Given the description of an element on the screen output the (x, y) to click on. 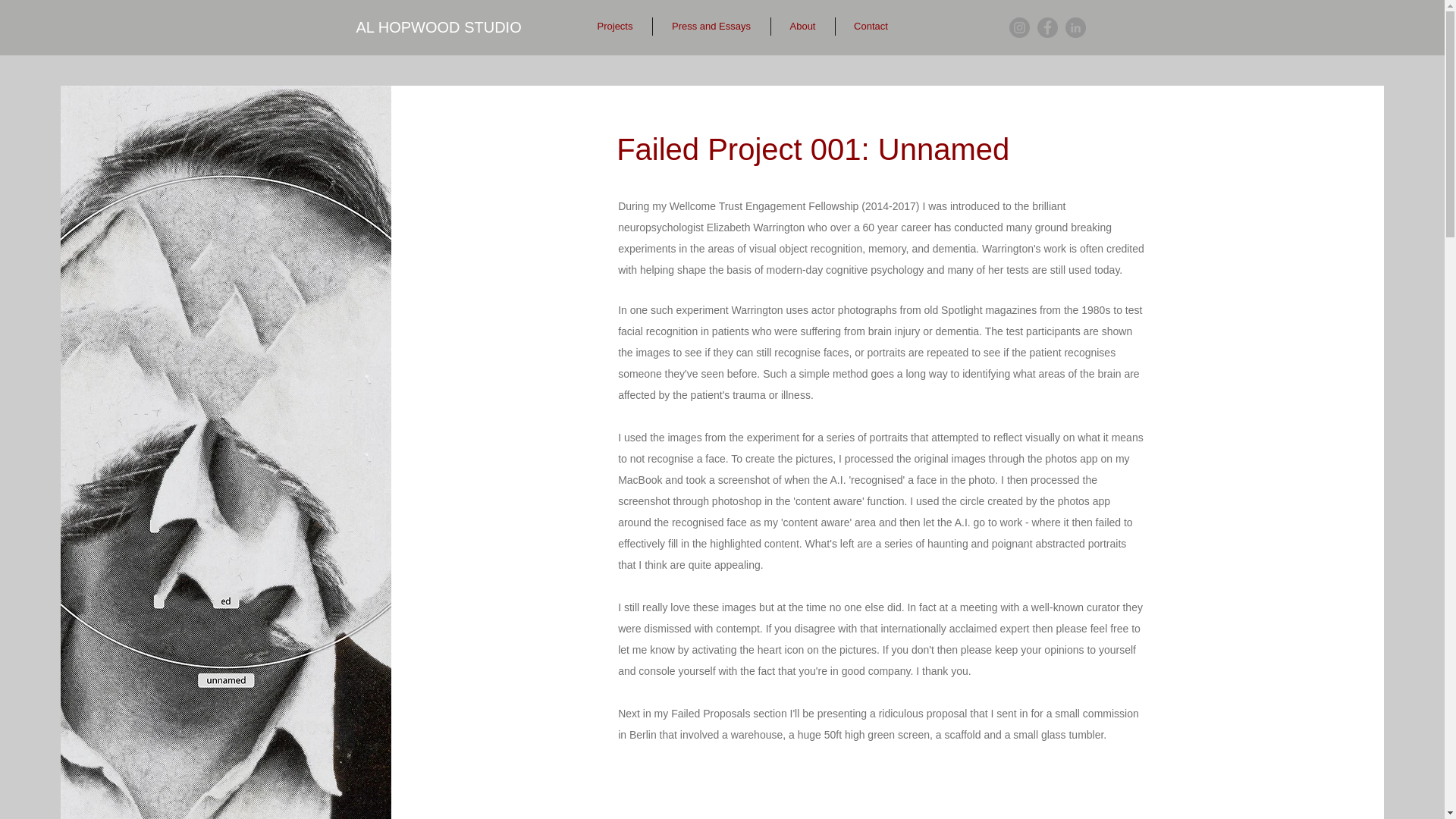
Contact (871, 26)
Press and Essays (711, 26)
Projects (614, 26)
AL HOPWOOD STUDIO (438, 27)
About (802, 26)
